Given the description of an element on the screen output the (x, y) to click on. 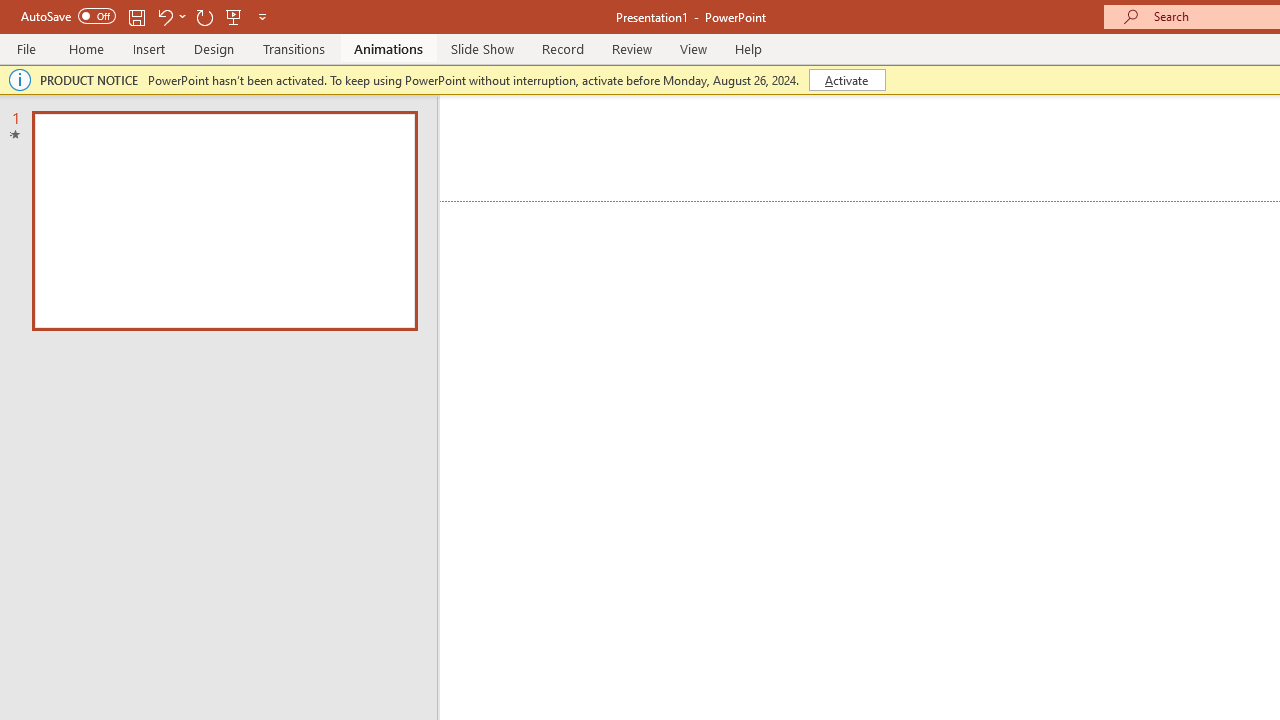
Superscript (390, 180)
Align Right (794, 180)
Font Color (567, 180)
Can't Repeat (341, 31)
Strikethrough (312, 180)
Text Highlight Color Yellow (495, 180)
Undo Typing (280, 31)
Shading RGB(0, 0, 0) (982, 180)
Subscript (350, 180)
Office Clipboard... (131, 226)
Asian Layout (1000, 137)
